Given the description of an element on the screen output the (x, y) to click on. 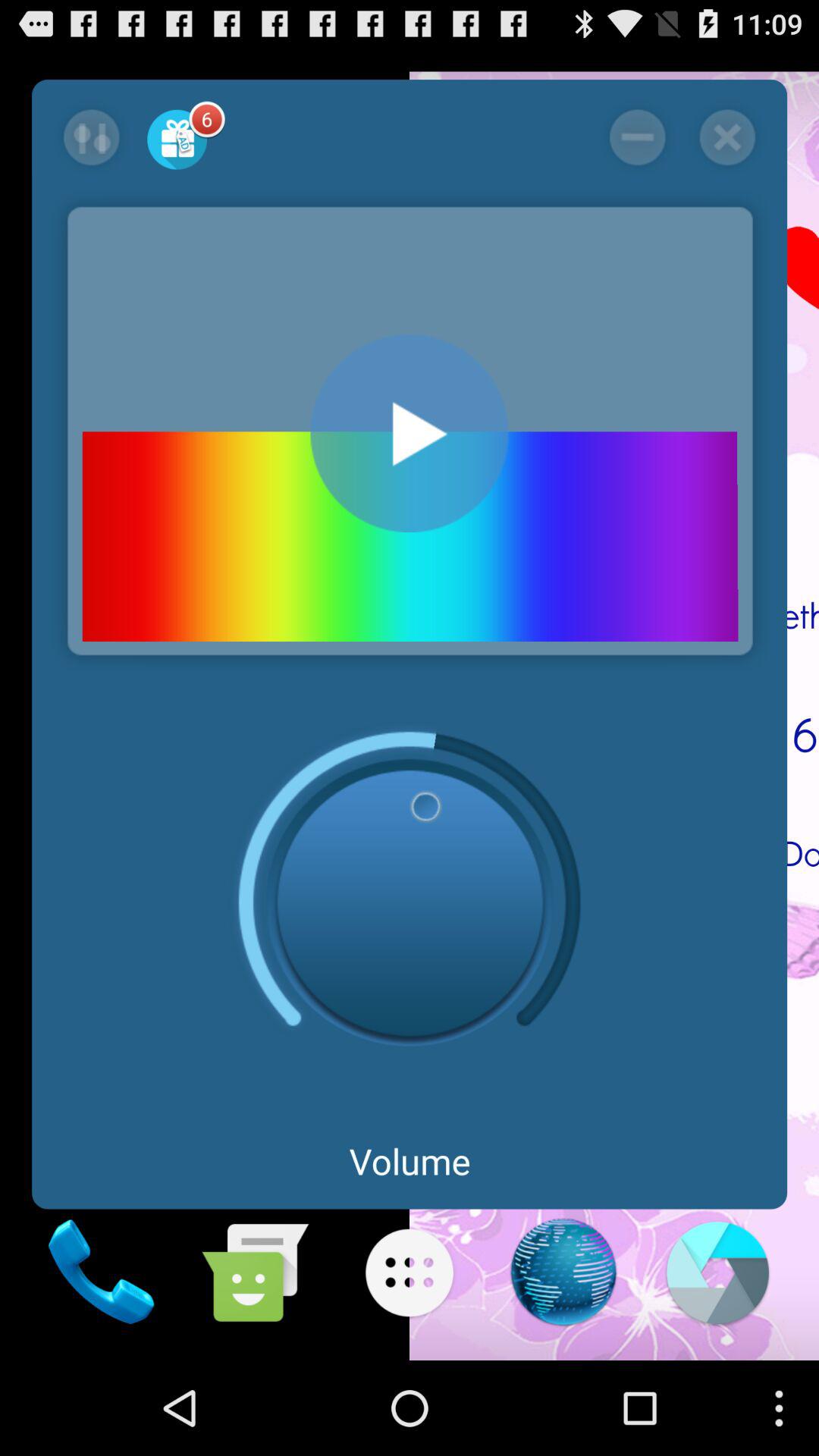
adjust settings (91, 137)
